Given the description of an element on the screen output the (x, y) to click on. 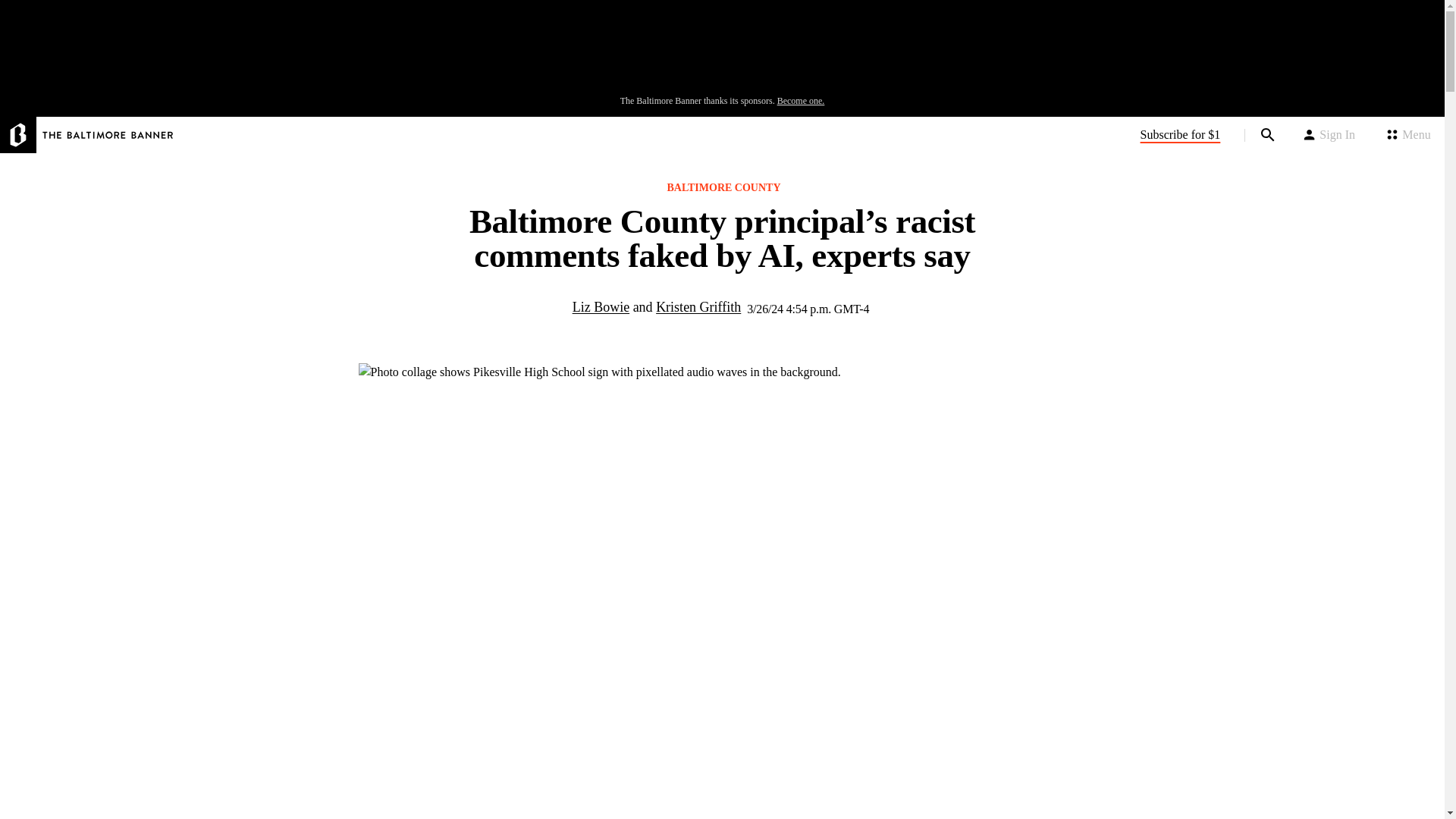
3rd party ad content (721, 52)
Sign In (1328, 135)
Become one. (801, 100)
BALTIMORE COUNTY (727, 188)
